Given the description of an element on the screen output the (x, y) to click on. 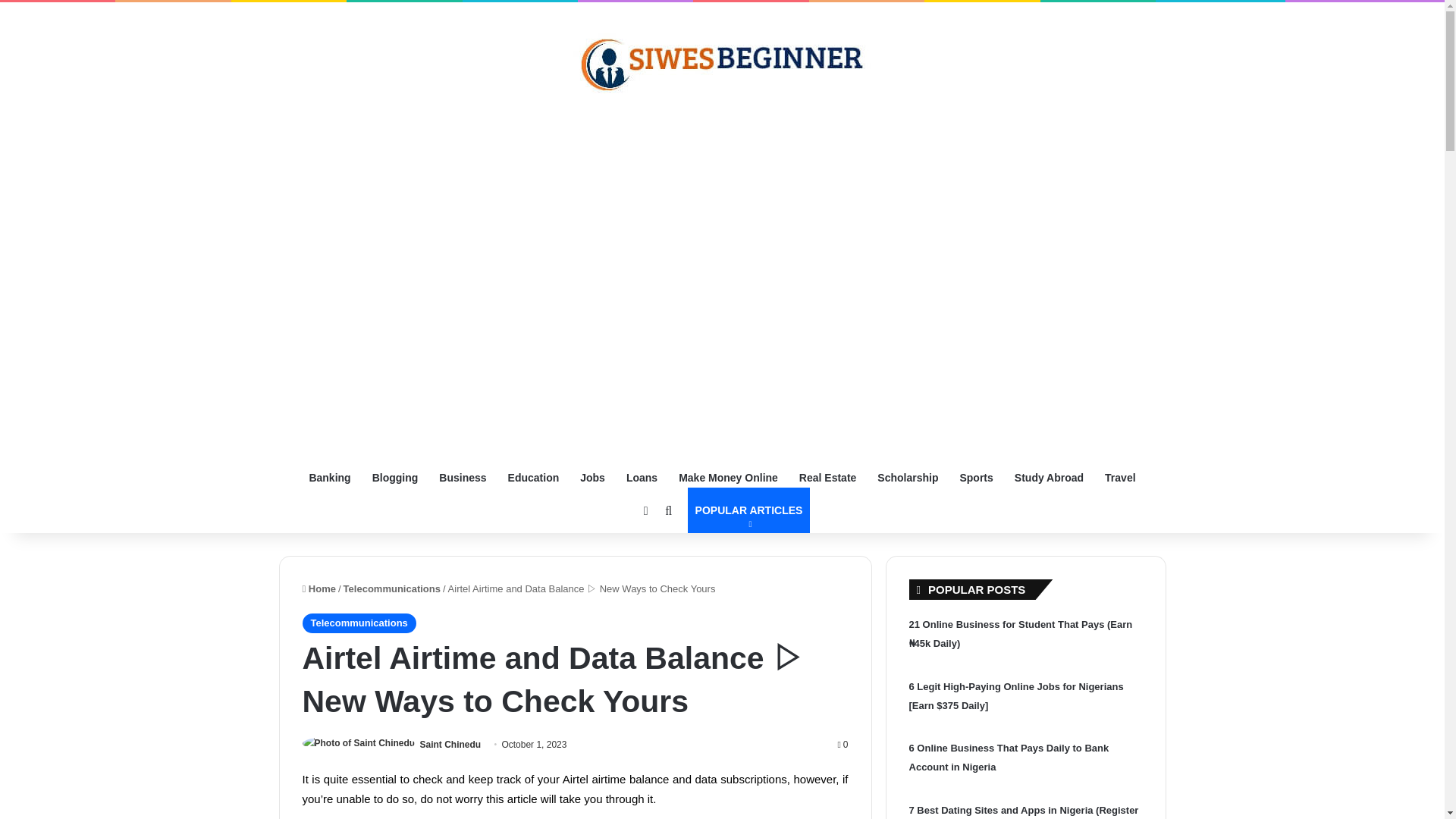
Real Estate (827, 477)
Travel (1119, 477)
Jobs (592, 477)
Telecommunications (357, 623)
Saint Chinedu (450, 744)
Saint Chinedu (450, 744)
Education (533, 477)
Business (462, 477)
Sports (976, 477)
Search for (668, 509)
Home (317, 588)
Sidebar (646, 509)
Telecommunications (392, 588)
Scholarship (907, 477)
